Given the description of an element on the screen output the (x, y) to click on. 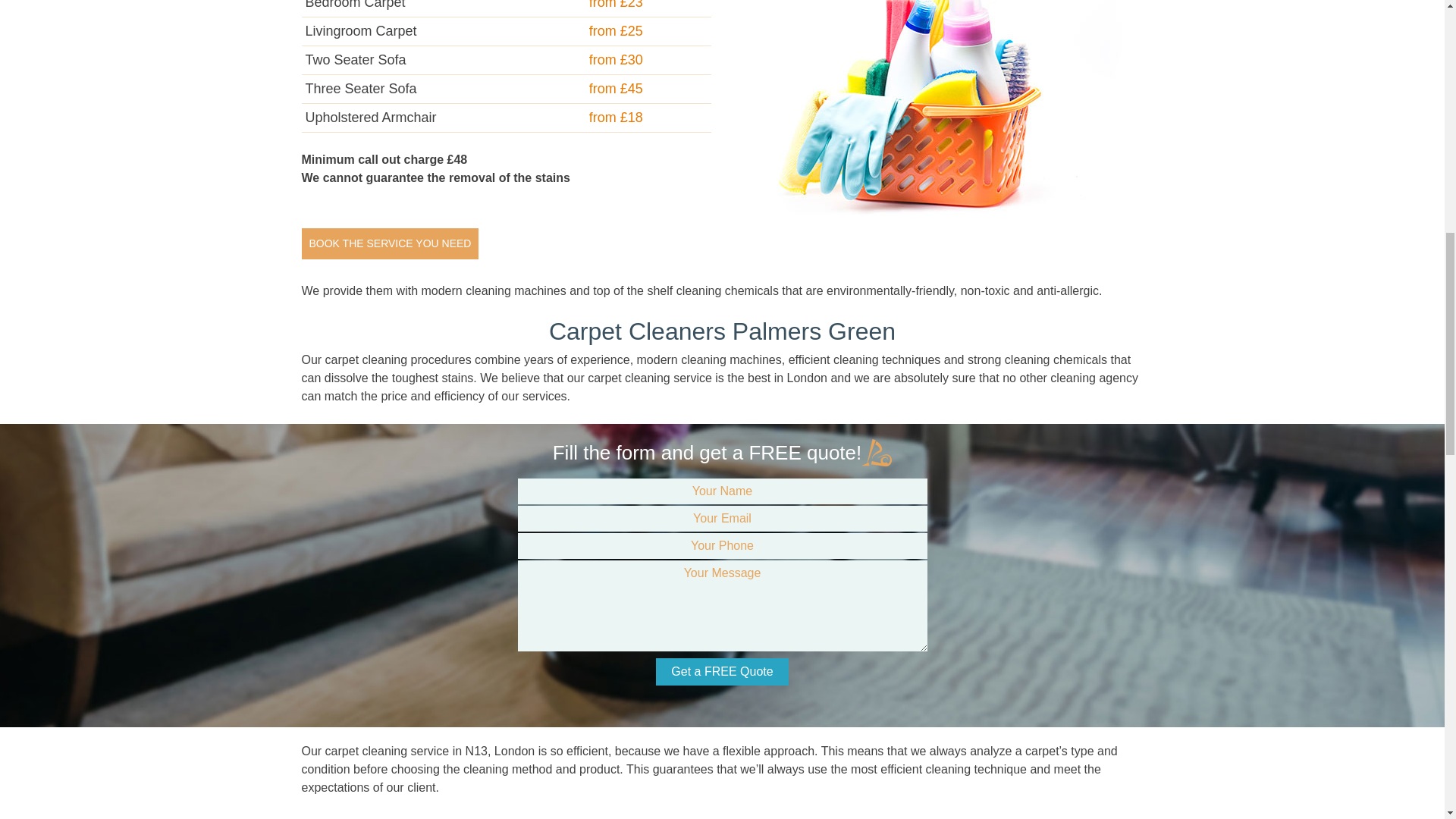
Get a FREE Quote (721, 671)
BOOK THE SERVICE YOU NEED (390, 243)
Get a FREE Quote (721, 671)
